Given the description of an element on the screen output the (x, y) to click on. 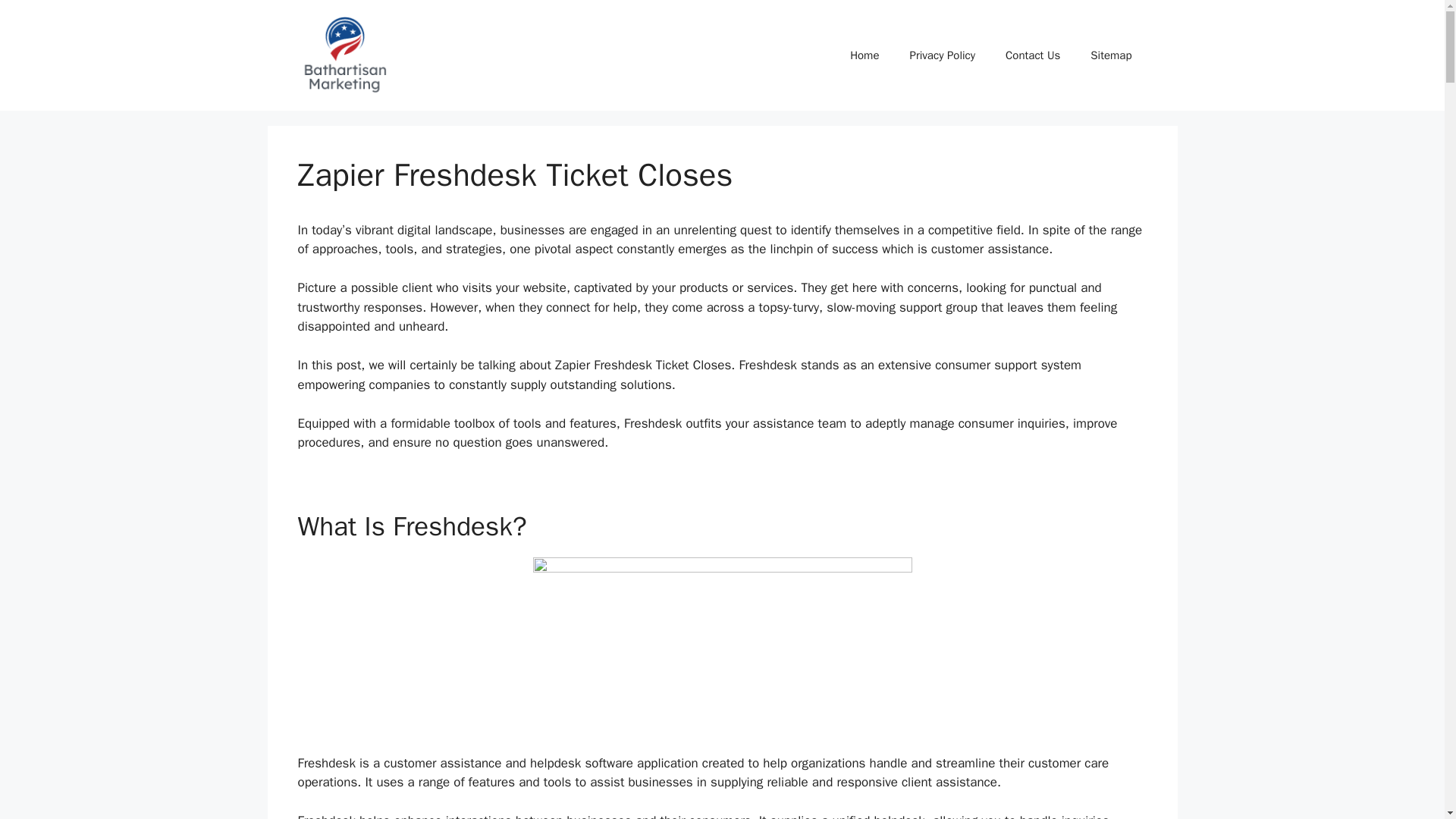
Privacy Policy (941, 54)
Sitemap (1111, 54)
Contact Us (1032, 54)
Home (863, 54)
